Given the description of an element on the screen output the (x, y) to click on. 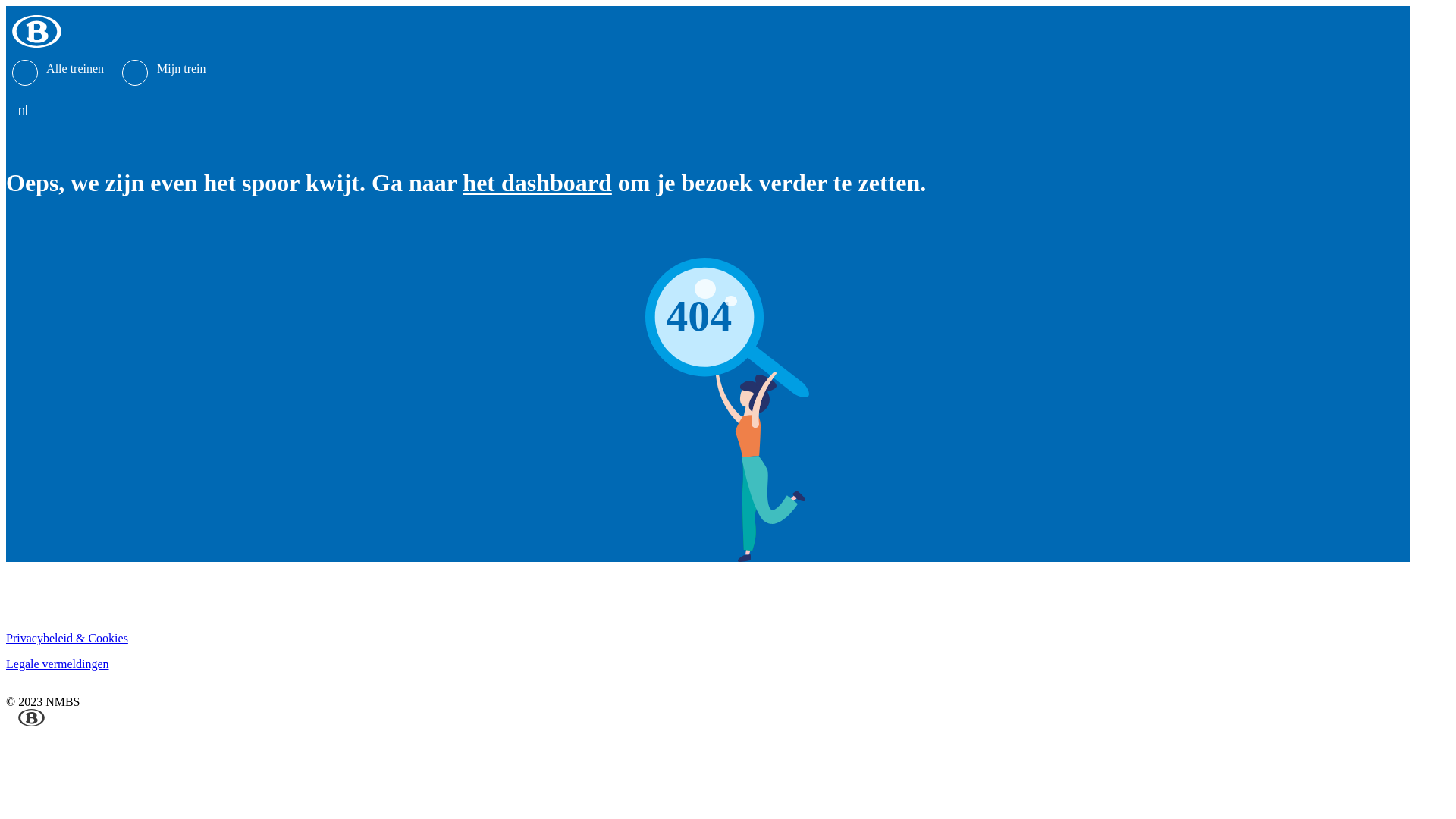
nl Element type: text (25, 110)
Privacybeleid & Cookies Element type: text (67, 637)
Legale vermeldingen Element type: text (57, 663)
het dashboard Element type: text (536, 182)
Mijn trein Element type: text (163, 68)
Alle treinen Element type: text (57, 68)
